Given the description of an element on the screen output the (x, y) to click on. 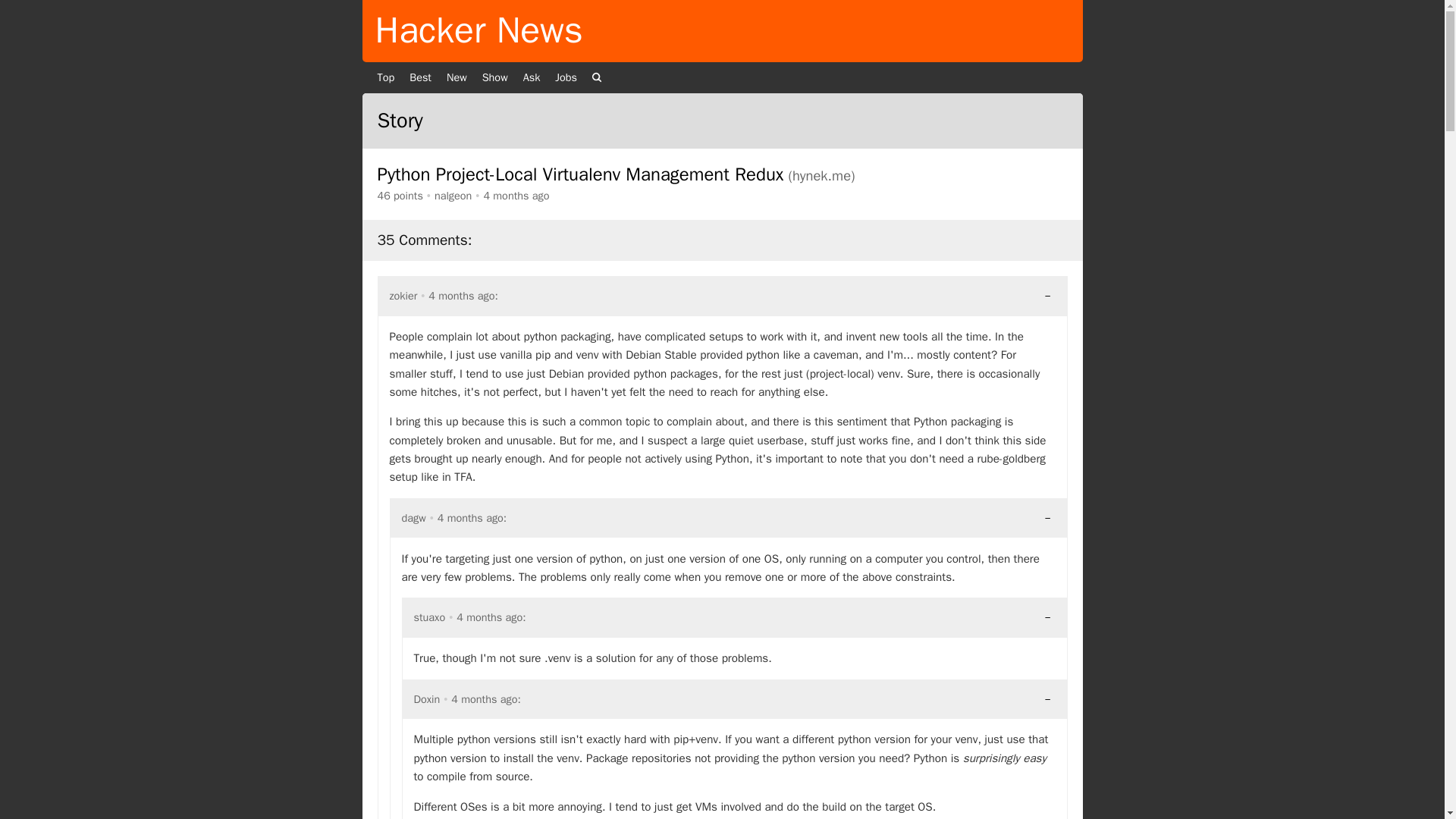
New (456, 78)
Best (420, 78)
Ask (531, 78)
Top (386, 78)
Hacker News (478, 30)
Jobs (566, 78)
Python Project-Local Virtualenv Management Redux (580, 173)
Show (494, 78)
